Given the description of an element on the screen output the (x, y) to click on. 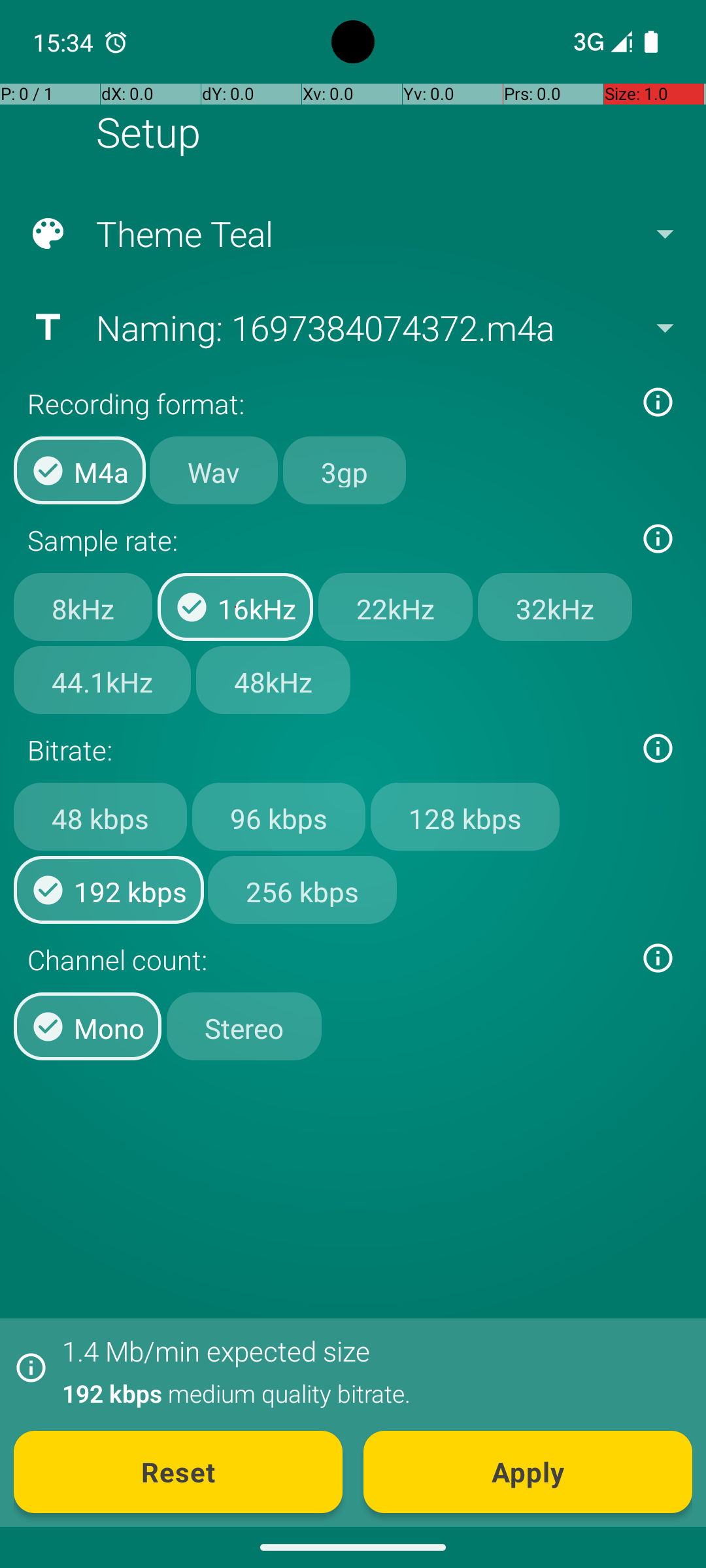
1.4 Mb/min expected size Element type: android.widget.TextView (215, 1350)
192 kbps medium quality bitrate. Element type: android.widget.TextView (370, 1392)
Naming: 1697384074372.m4a Element type: android.widget.TextView (352, 327)
Clock notification: Missed alarm Element type: android.widget.ImageView (115, 41)
